Given the description of an element on the screen output the (x, y) to click on. 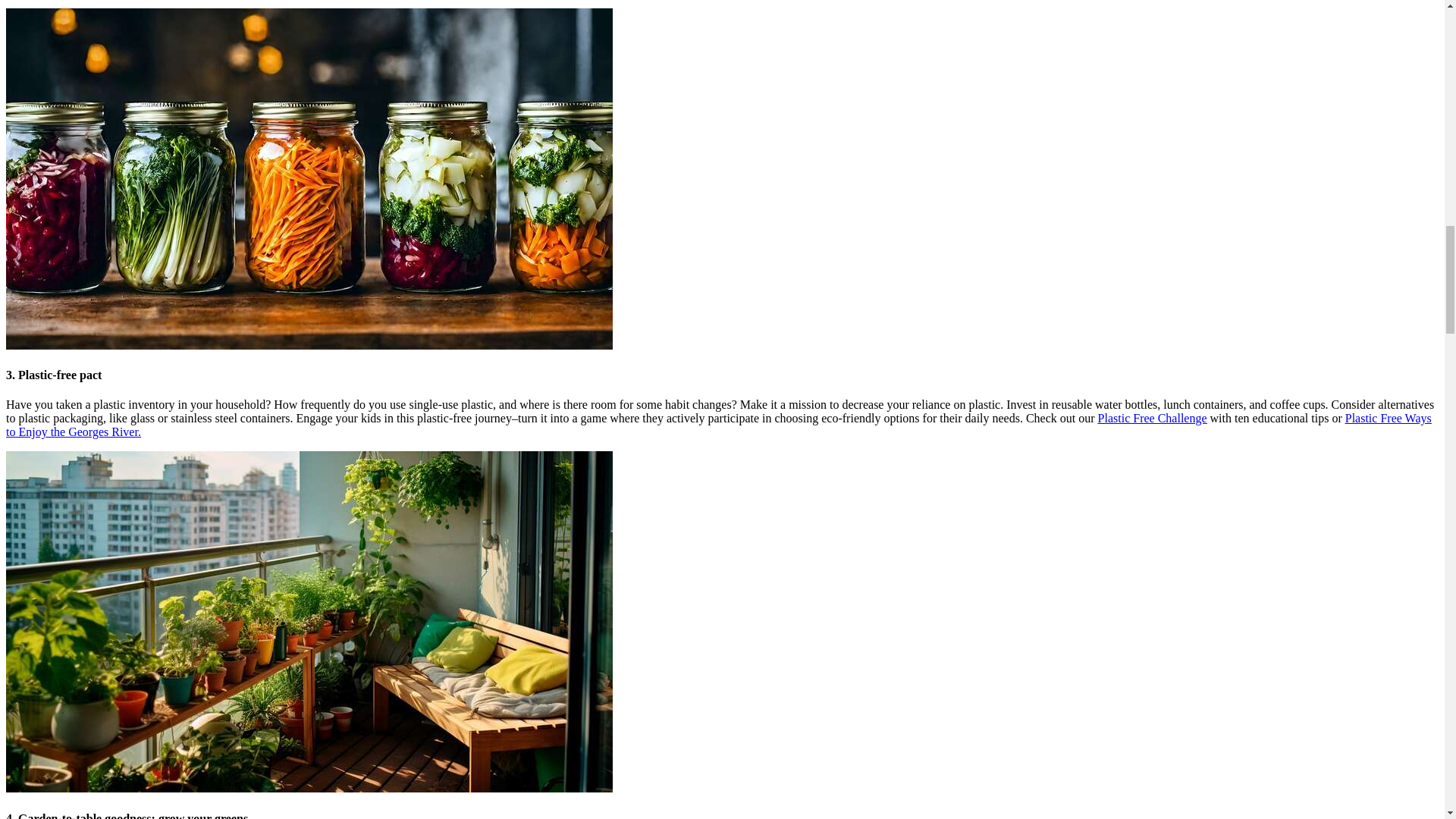
Plastic Free Challenge (1152, 418)
Plastic Free Ways to Enjoy the Georges River. (718, 424)
